Given the description of an element on the screen output the (x, y) to click on. 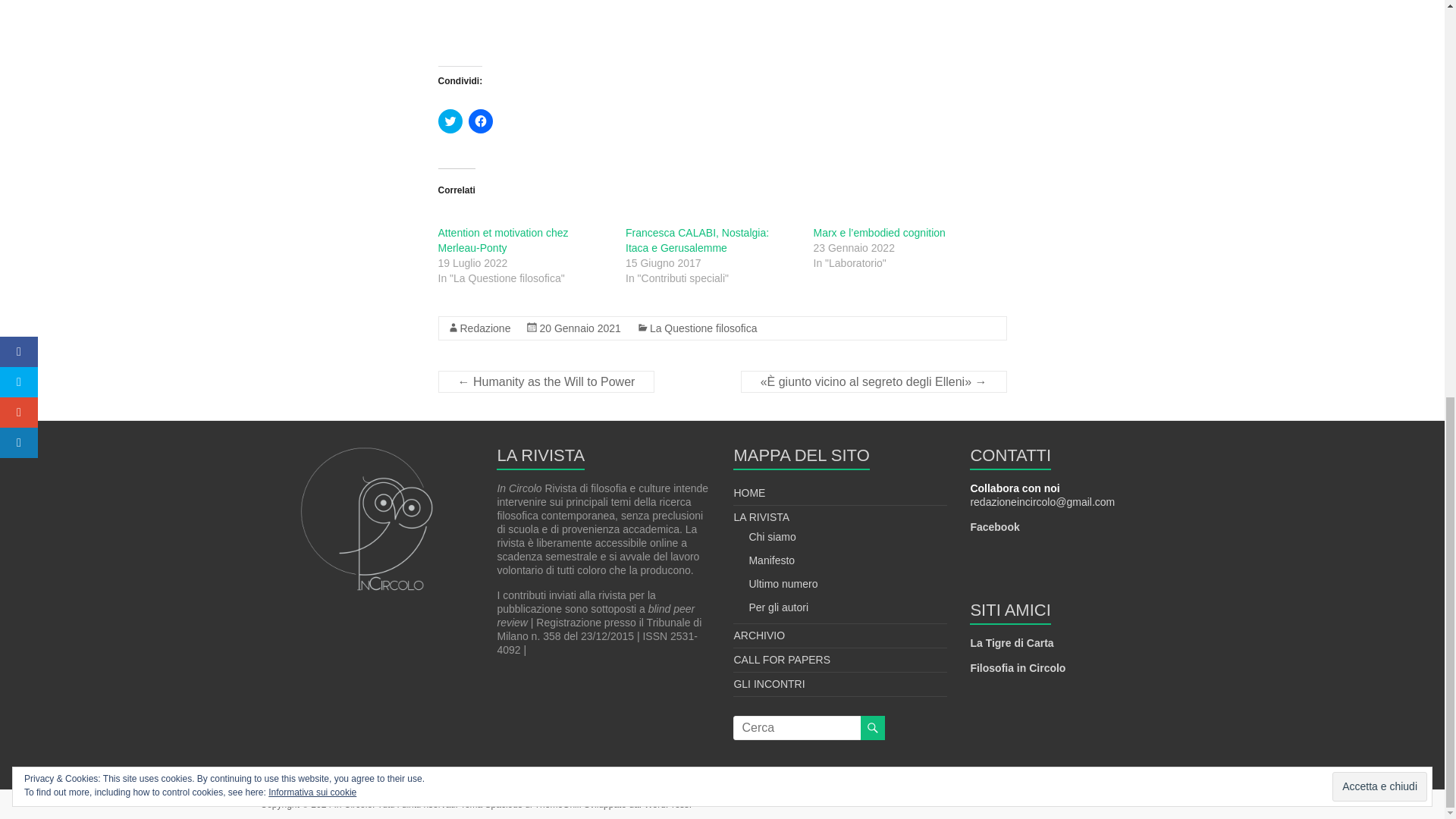
In Circolo (352, 804)
Facebook (994, 526)
22:04 (579, 328)
Filosofia in Circolo (1017, 667)
Francesca CALABI, Nostalgia: Itaca e Gerusalemme (697, 239)
Francesca CALABI, Nostalgia: Itaca e Gerusalemme (697, 239)
Manifesto (771, 560)
Redazione (485, 328)
LA RIVISTA (761, 517)
In Circolo (352, 804)
